Given the description of an element on the screen output the (x, y) to click on. 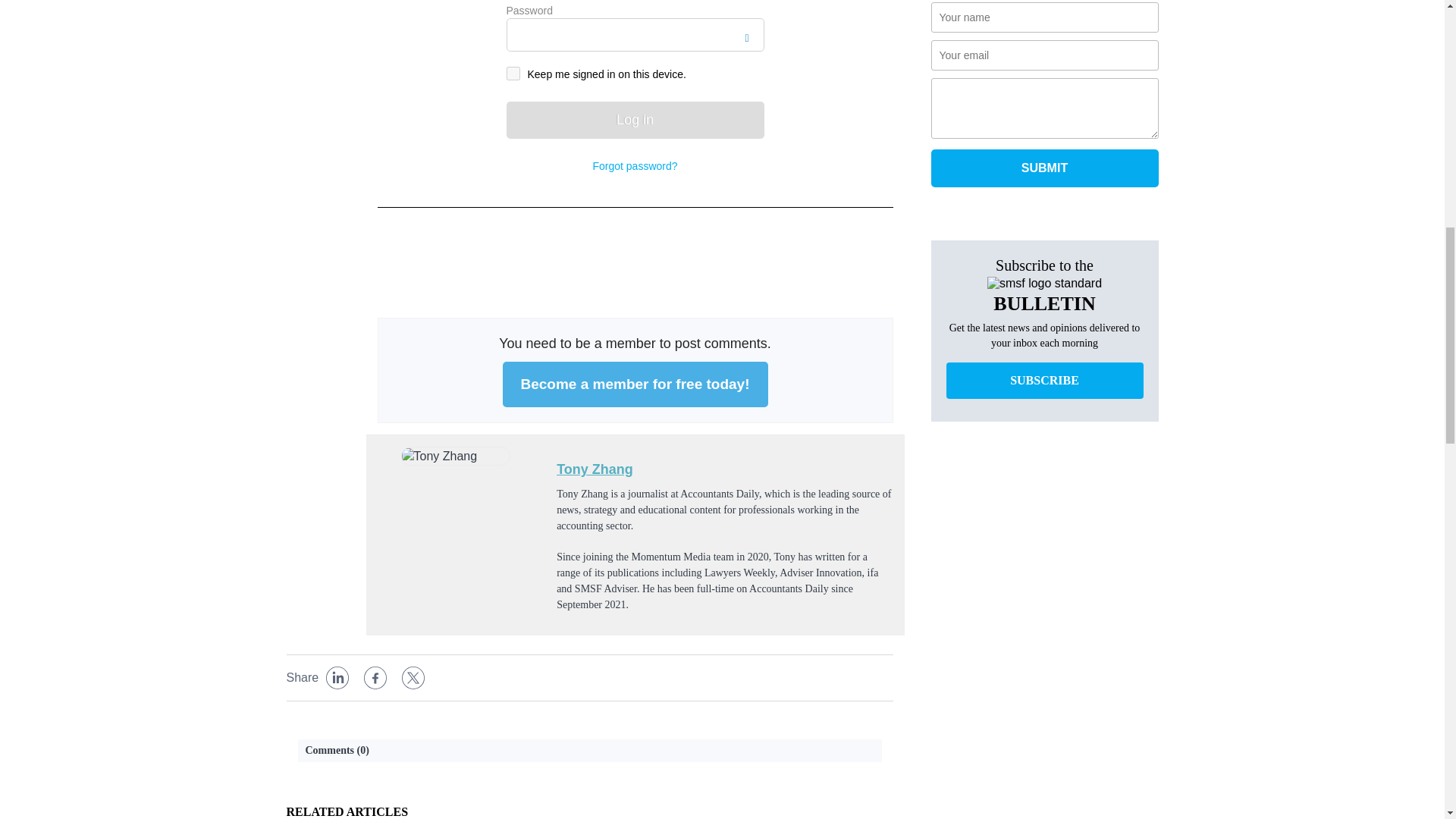
on (512, 73)
Log in (635, 119)
